Given the description of an element on the screen output the (x, y) to click on. 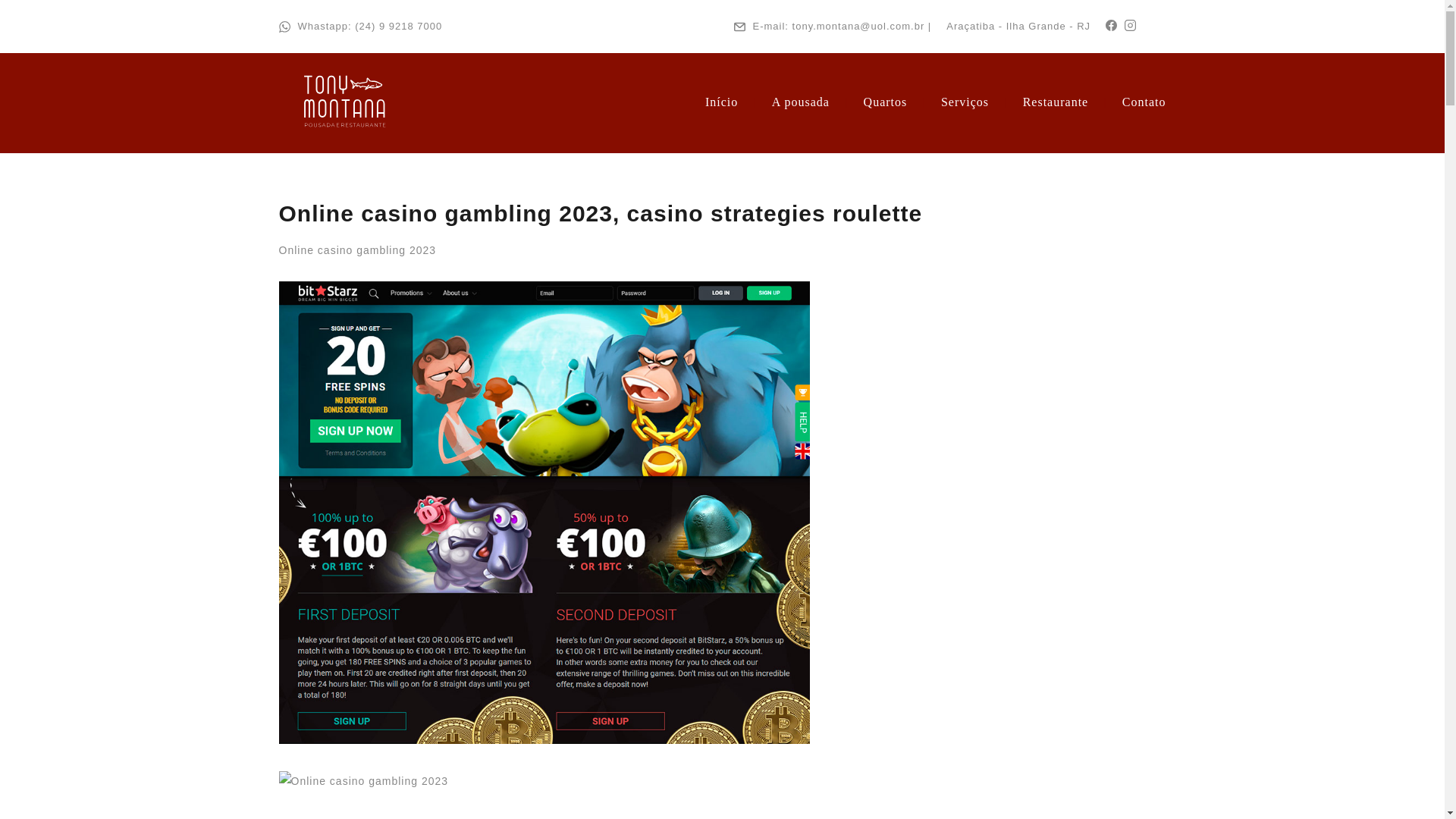
Online casino gambling 2023 (363, 781)
Quartos (885, 101)
A pousada (800, 101)
Contato (1144, 101)
Online casino gambling 2023 (357, 250)
Restaurante (1056, 101)
